Given the description of an element on the screen output the (x, y) to click on. 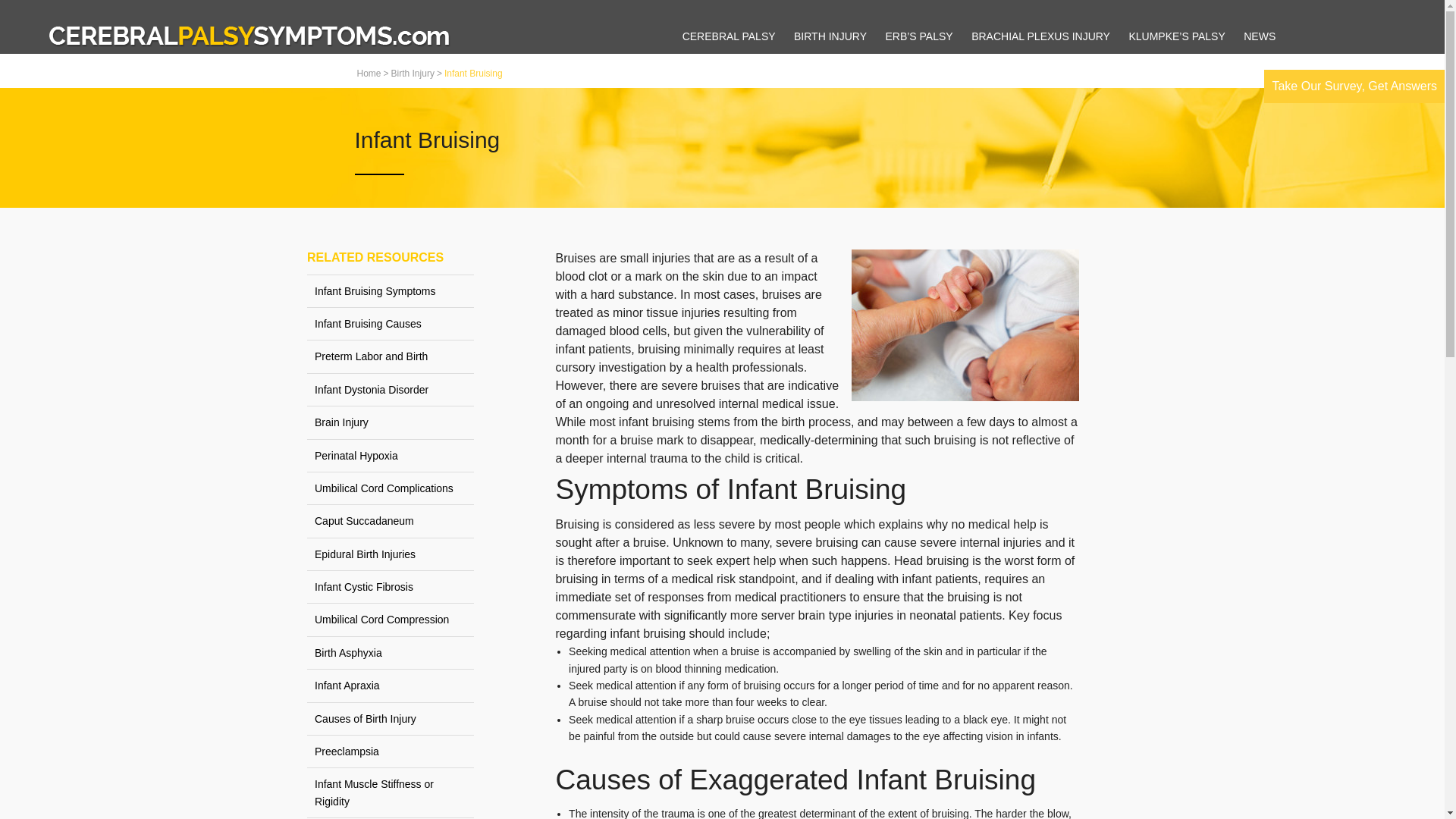
Treatments for Birth Injuries (822, 206)
Cerebral Palsy Treatment (721, 100)
Anoxia and Hypoxia (822, 79)
Umbilical Cord Compression (390, 619)
CEREBRAL PALSY (729, 36)
Infant Bruising Symptoms (390, 291)
Perinatal Hypoxia (390, 455)
Symptoms of a Birth Injury (822, 185)
Preeclampsia (390, 751)
Infant Cystic Fibrosis (390, 586)
Birth Asphyxia (390, 653)
BIRTH INJURY (829, 36)
Brain Injury (822, 142)
Epidural Birth Injuries (390, 554)
Preterm Labor and Birth (390, 356)
